Given the description of an element on the screen output the (x, y) to click on. 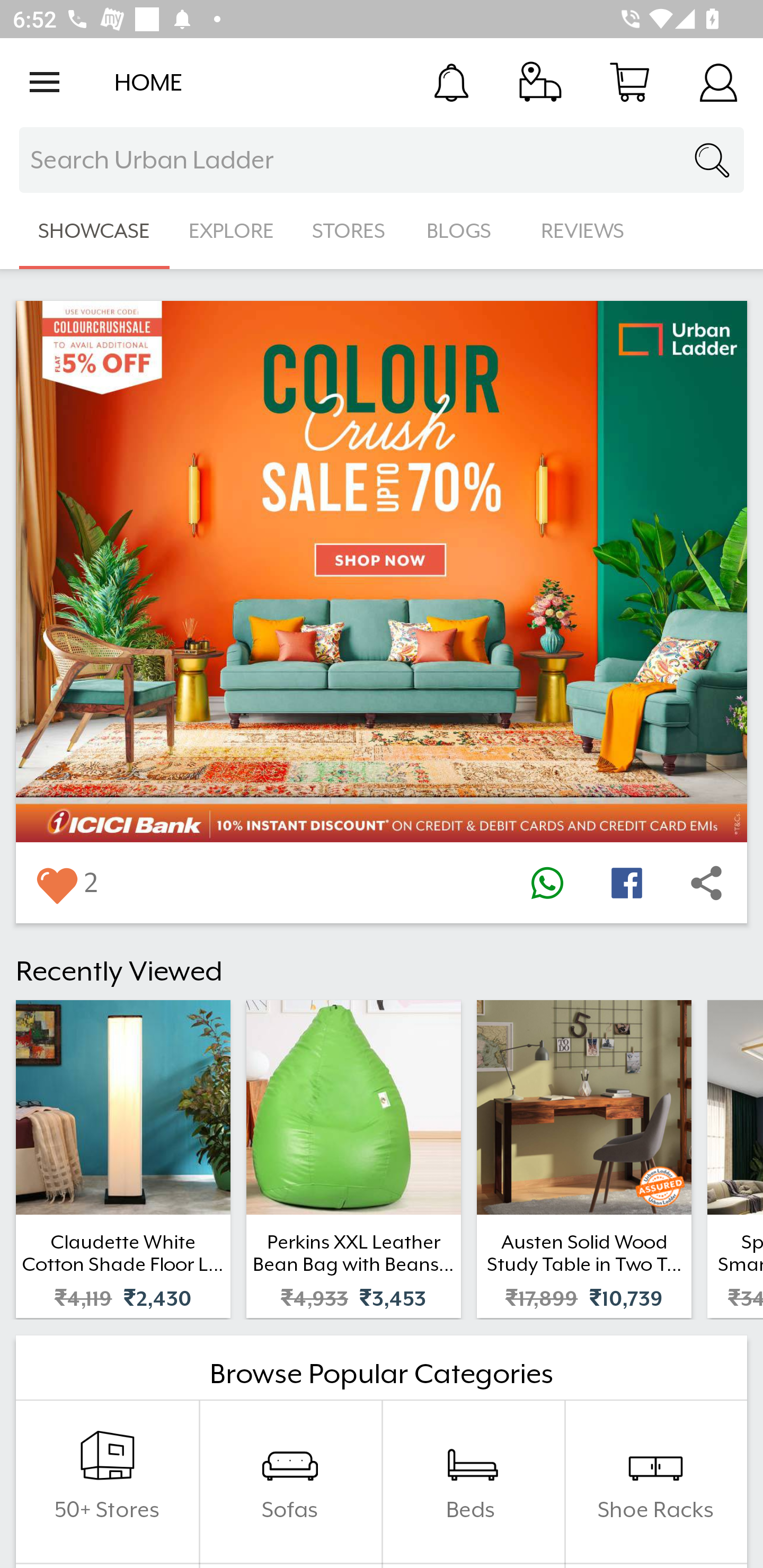
Open navigation drawer (44, 82)
Notification (450, 81)
Track Order (540, 81)
Cart (629, 81)
Account Details (718, 81)
Search Urban Ladder  (381, 159)
SHOWCASE (94, 230)
EXPLORE (230, 230)
STORES (349, 230)
BLOGS (464, 230)
REVIEWS (582, 230)
 (55, 882)
 (547, 882)
 (626, 882)
 (706, 882)
50+ Stores (106, 1481)
Sofas (289, 1481)
Beds  (473, 1481)
Shoe Racks (655, 1481)
